Given the description of an element on the screen output the (x, y) to click on. 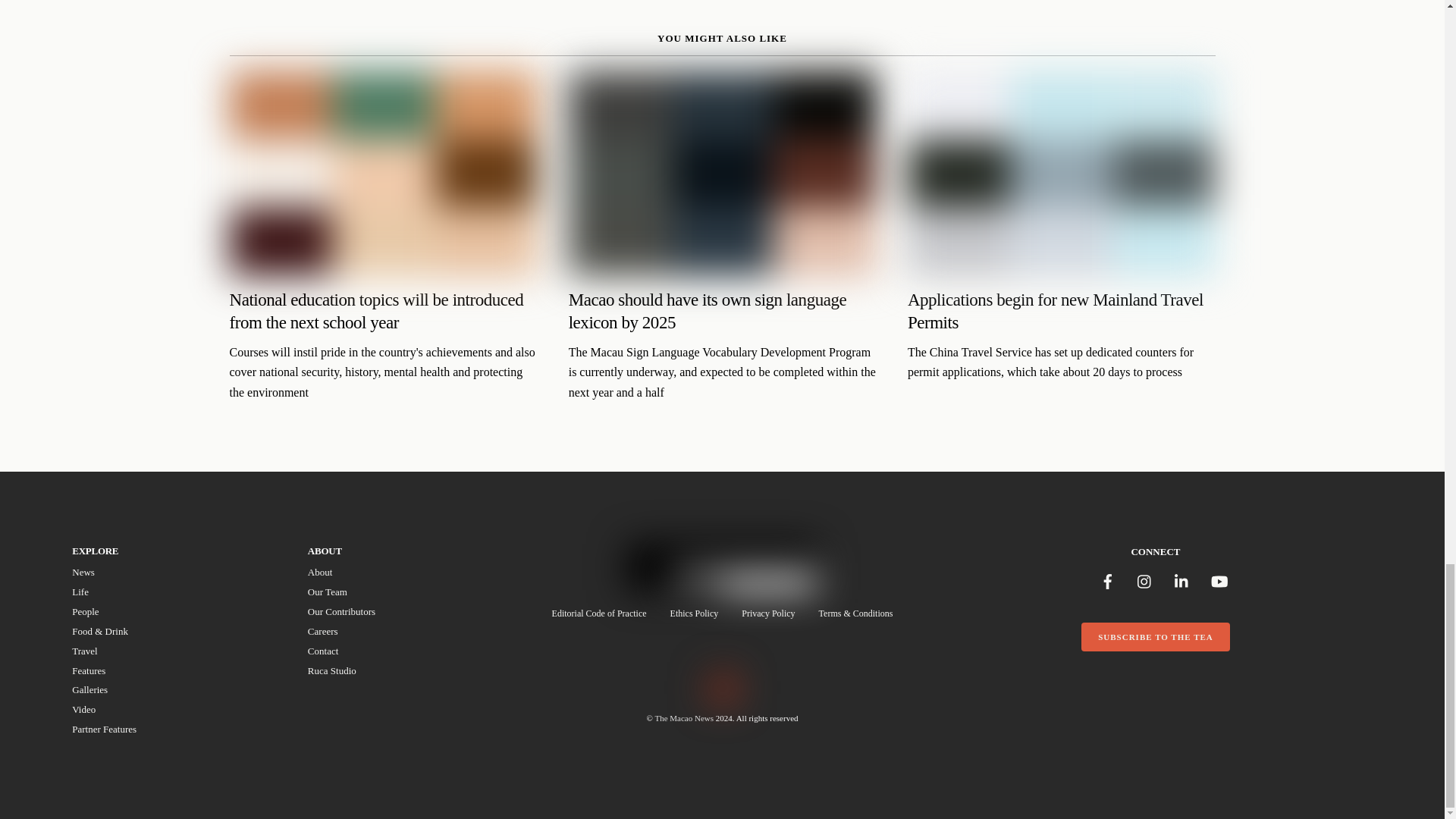
Applications begin for new Mainland Travel Permits (406, 624)
